Given the description of an element on the screen output the (x, y) to click on. 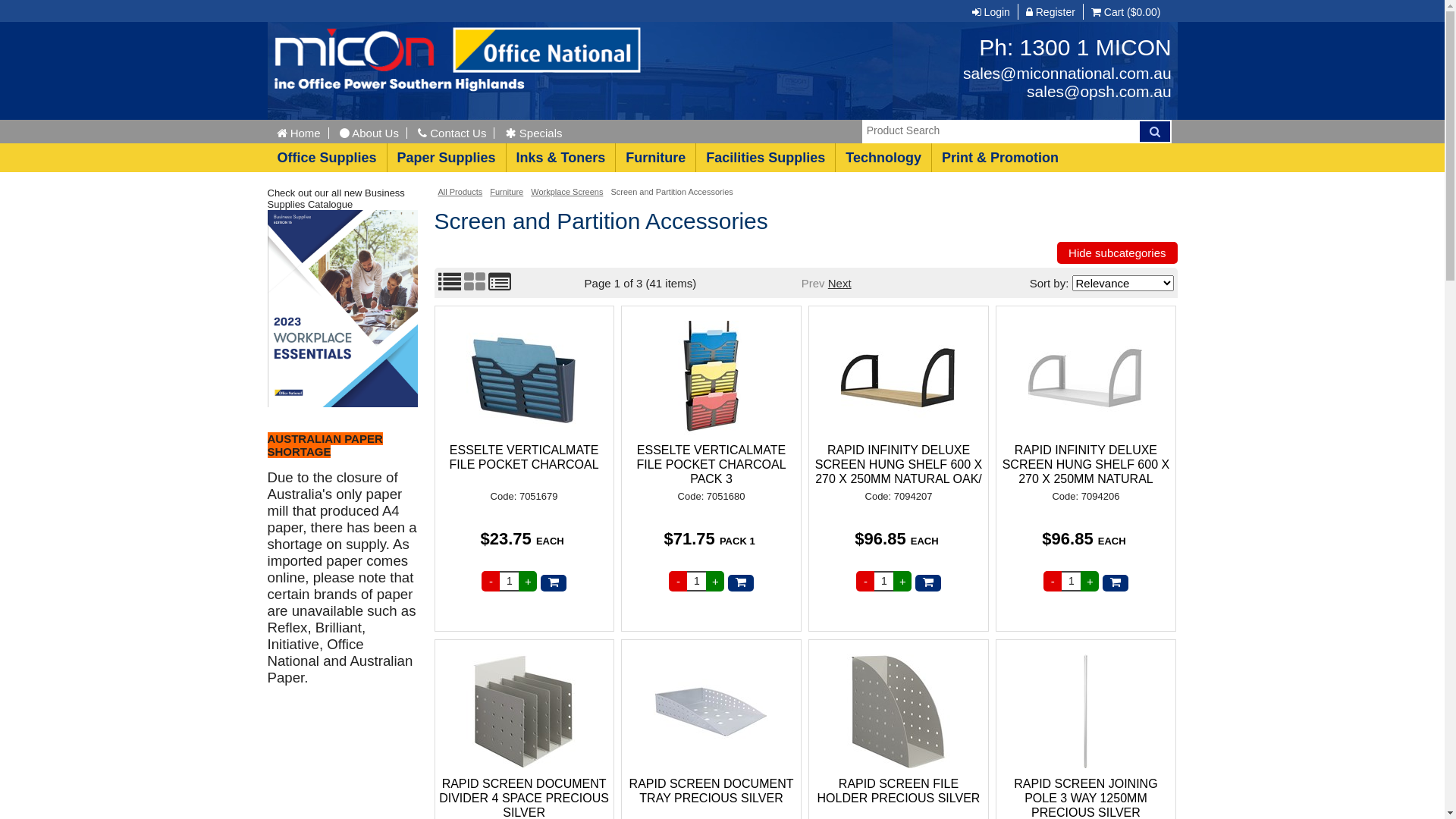
All Products Element type: text (460, 191)
Print & Promotion Element type: text (999, 157)
Increase quantity Element type: hover (902, 581)
Contact Us Element type: text (452, 132)
Quantity to add to cart Element type: hover (508, 581)
RAPID SCREEN JOINING POLE 3 WAY 1250MM PRECIOUS SILVER Element type: hover (1085, 711)
Hide subcategories Element type: text (1116, 252)
Specials Element type: text (534, 132)
- Element type: text (1052, 581)
Decrease quantity Element type: hover (1052, 581)
Login Element type: text (990, 11)
Add to Cart Element type: hover (928, 582)
ESSELTE VERTICALMATE FILE POCKET CHARCOAL PACK 3 Element type: hover (710, 378)
Decrease quantity Element type: hover (490, 581)
RAPID SCREEN DOCUMENT TRAY PRECIOUS SILVER Element type: hover (710, 711)
Workplace Screens Element type: text (566, 191)
Register Element type: text (1049, 11)
Furniture Element type: text (655, 157)
Compact View Element type: hover (499, 285)
Furniture Element type: text (506, 191)
Office Supplies Element type: text (325, 157)
Grid View Element type: hover (474, 285)
ESSELTE VERTICALMATE FILE POCKET CHARCOAL Element type: text (523, 464)
About Us Element type: text (369, 132)
Quantity to add to cart Element type: hover (883, 581)
Add to Cart Element type: hover (1115, 582)
ESSELTE VERTICALMATE FILE POCKET CHARCOAL Element type: hover (523, 378)
Decrease quantity Element type: hover (677, 581)
RAPID SCREEN FILE HOLDER PRECIOUS SILVER Element type: hover (897, 711)
Increase quantity Element type: hover (715, 581)
Add to Cart Element type: hover (553, 582)
- Element type: text (490, 581)
  Element type: text (341, 409)
Paper Supplies Element type: text (445, 157)
Facilities Supplies Element type: text (764, 157)
RAPID SCREEN DOCUMENT DIVIDER 4 SPACE PRECIOUS SILVER Element type: hover (523, 711)
+ Element type: text (715, 581)
Inks & Toners Element type: text (560, 157)
Technology Element type: text (882, 157)
Quantity to add to cart Element type: hover (1070, 581)
+ Element type: text (1089, 581)
Decrease quantity Element type: hover (865, 581)
Cart ($0.00) Element type: text (1125, 11)
ESSELTE VERTICALMATE FILE POCKET CHARCOAL PACK 3 Element type: text (710, 464)
+ Element type: text (527, 581)
- Element type: text (677, 581)
Increase quantity Element type: hover (1089, 581)
Home Element type: text (302, 132)
List View Element type: hover (449, 285)
Quantity to add to cart Element type: hover (696, 581)
Increase quantity Element type: hover (527, 581)
Next Element type: text (839, 282)
Add to Cart Element type: hover (740, 582)
- Element type: text (865, 581)
+ Element type: text (902, 581)
